Given the description of an element on the screen output the (x, y) to click on. 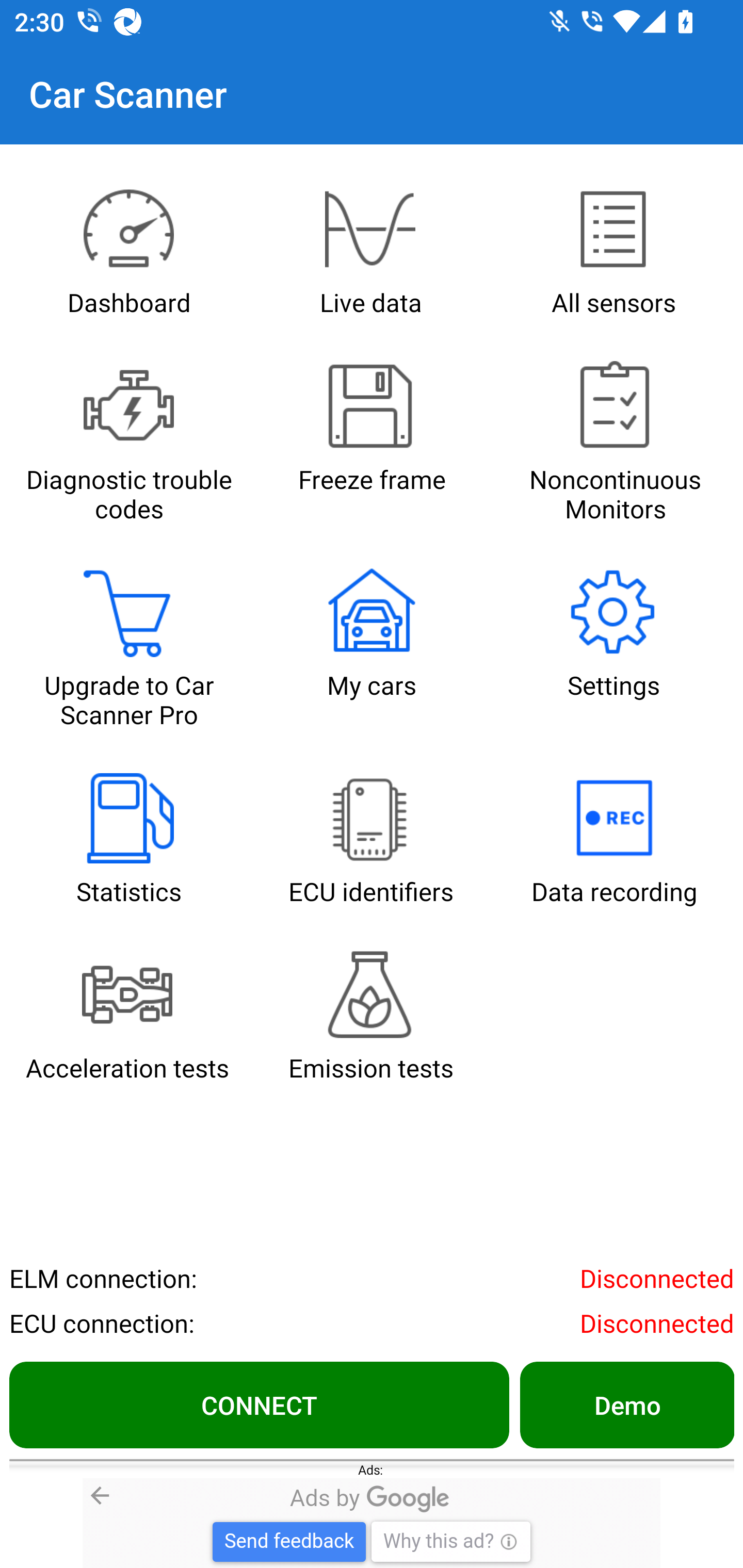
CONNECT (258, 1404)
Demo (627, 1404)
